Given the description of an element on the screen output the (x, y) to click on. 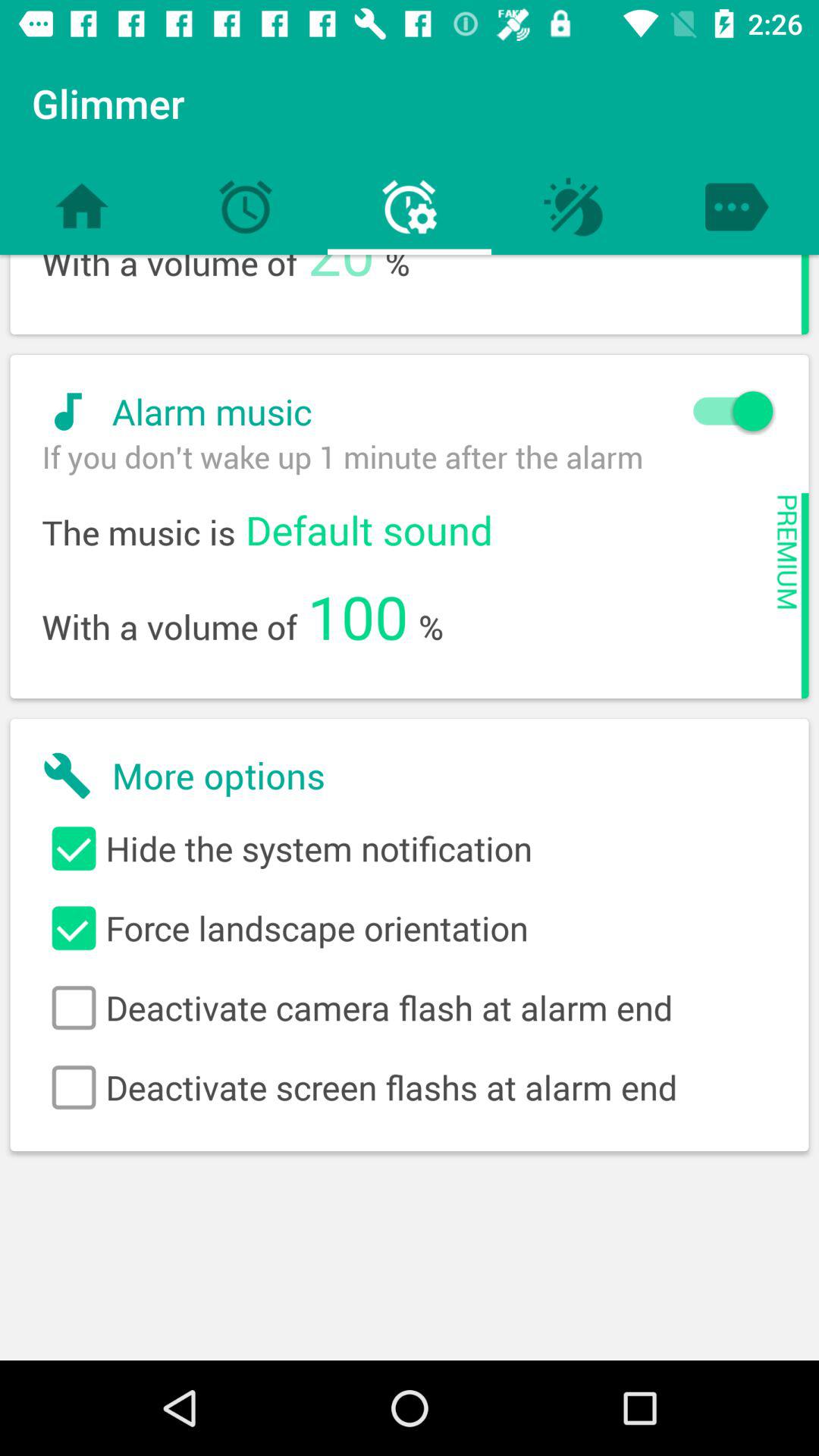
flip to hide the system (409, 848)
